Given the description of an element on the screen output the (x, y) to click on. 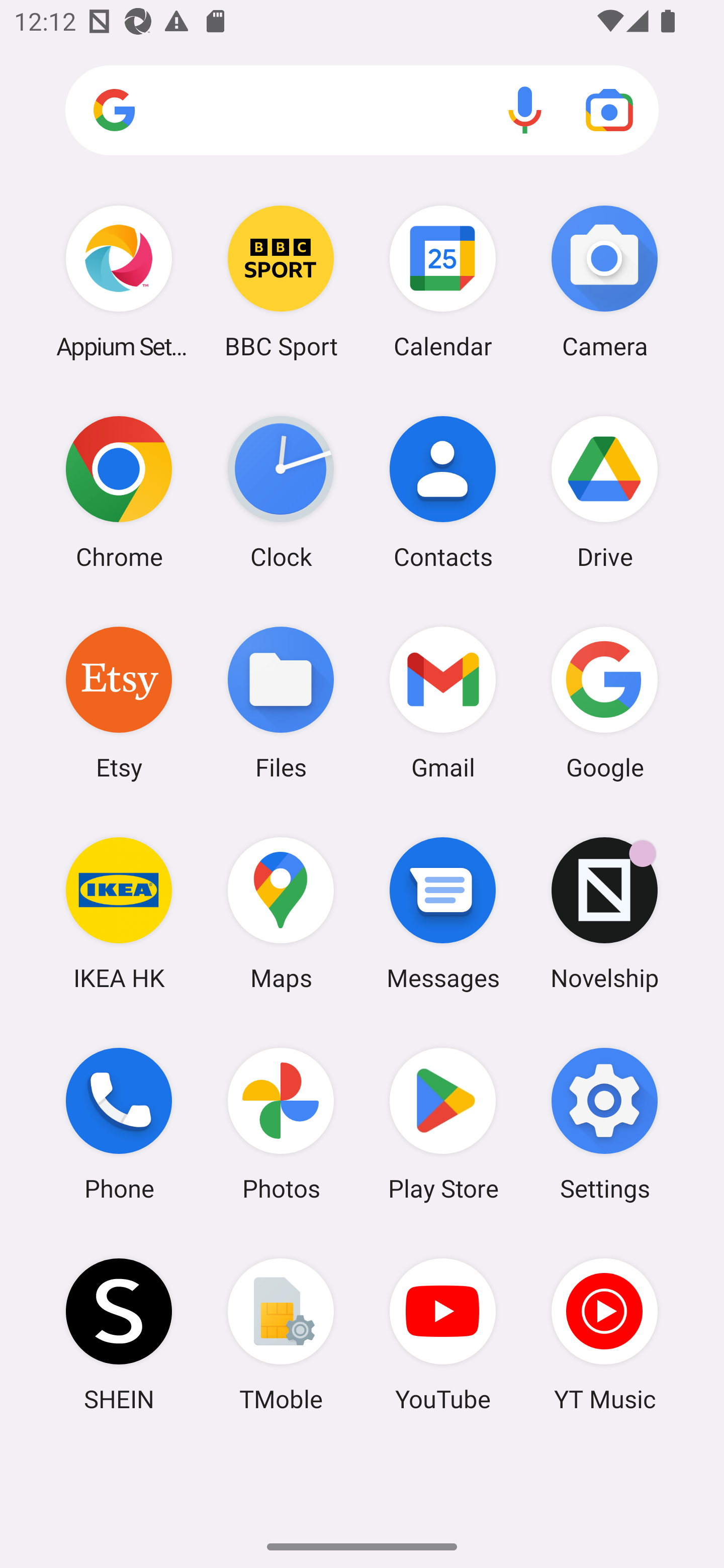
Search apps, web and more (361, 110)
Voice search (524, 109)
Google Lens (608, 109)
Appium Settings (118, 281)
BBC Sport (280, 281)
Calendar (443, 281)
Camera (604, 281)
Chrome (118, 492)
Clock (280, 492)
Contacts (443, 492)
Drive (604, 492)
Etsy (118, 702)
Files (280, 702)
Gmail (443, 702)
Google (604, 702)
IKEA HK (118, 913)
Maps (280, 913)
Messages (443, 913)
Novelship Novelship has 7 notifications (604, 913)
Phone (118, 1124)
Photos (280, 1124)
Play Store (443, 1124)
Settings (604, 1124)
SHEIN (118, 1334)
TMoble (280, 1334)
YouTube (443, 1334)
YT Music (604, 1334)
